Given the description of an element on the screen output the (x, y) to click on. 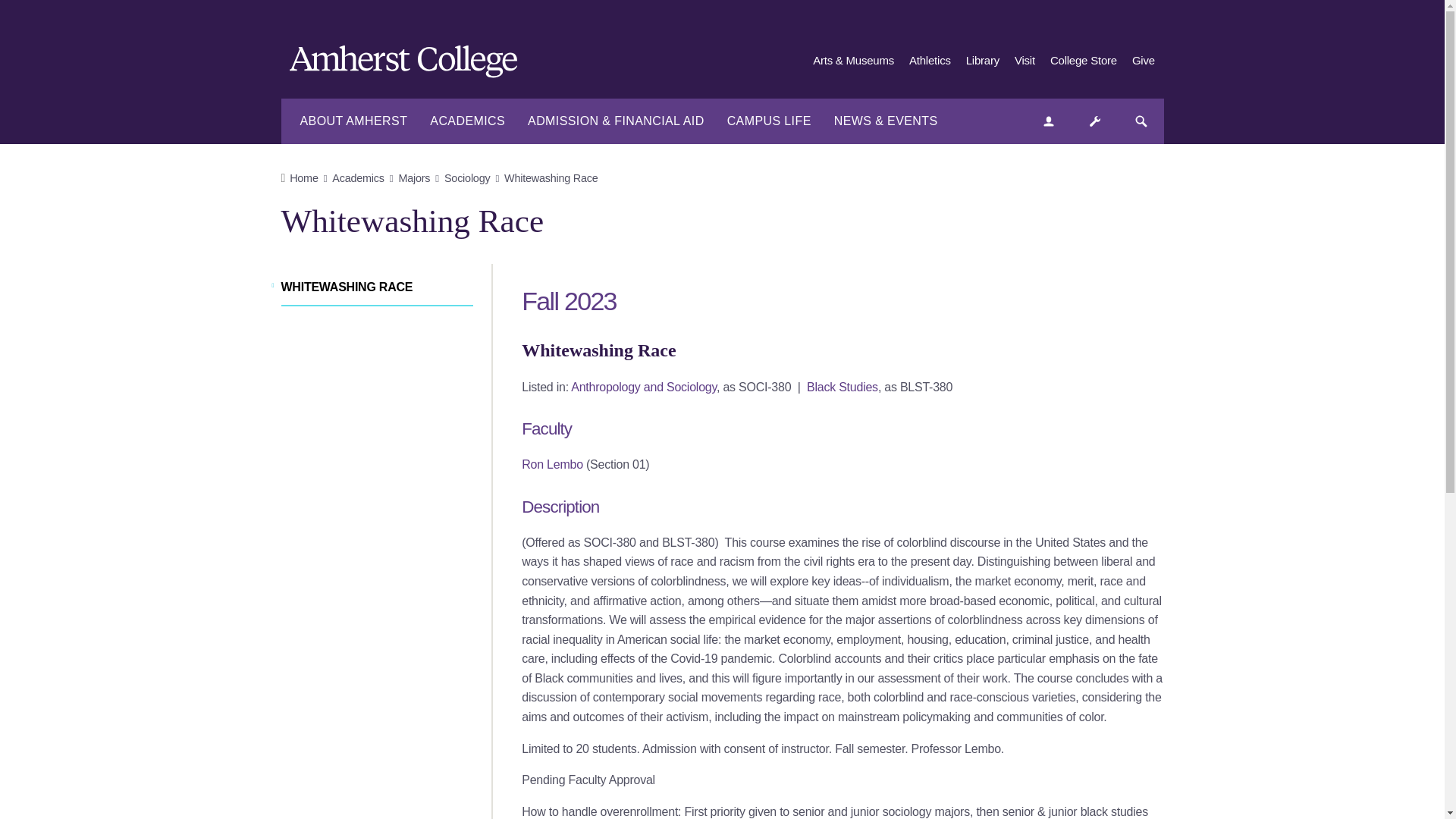
CAMPUS LIFE (768, 121)
Athletics (929, 60)
Give (1143, 60)
Amherst College (410, 64)
ABOUT AMHERST (353, 121)
ACADEMICS (467, 121)
Library (982, 60)
Visit (1024, 60)
College Store (1082, 60)
